Given the description of an element on the screen output the (x, y) to click on. 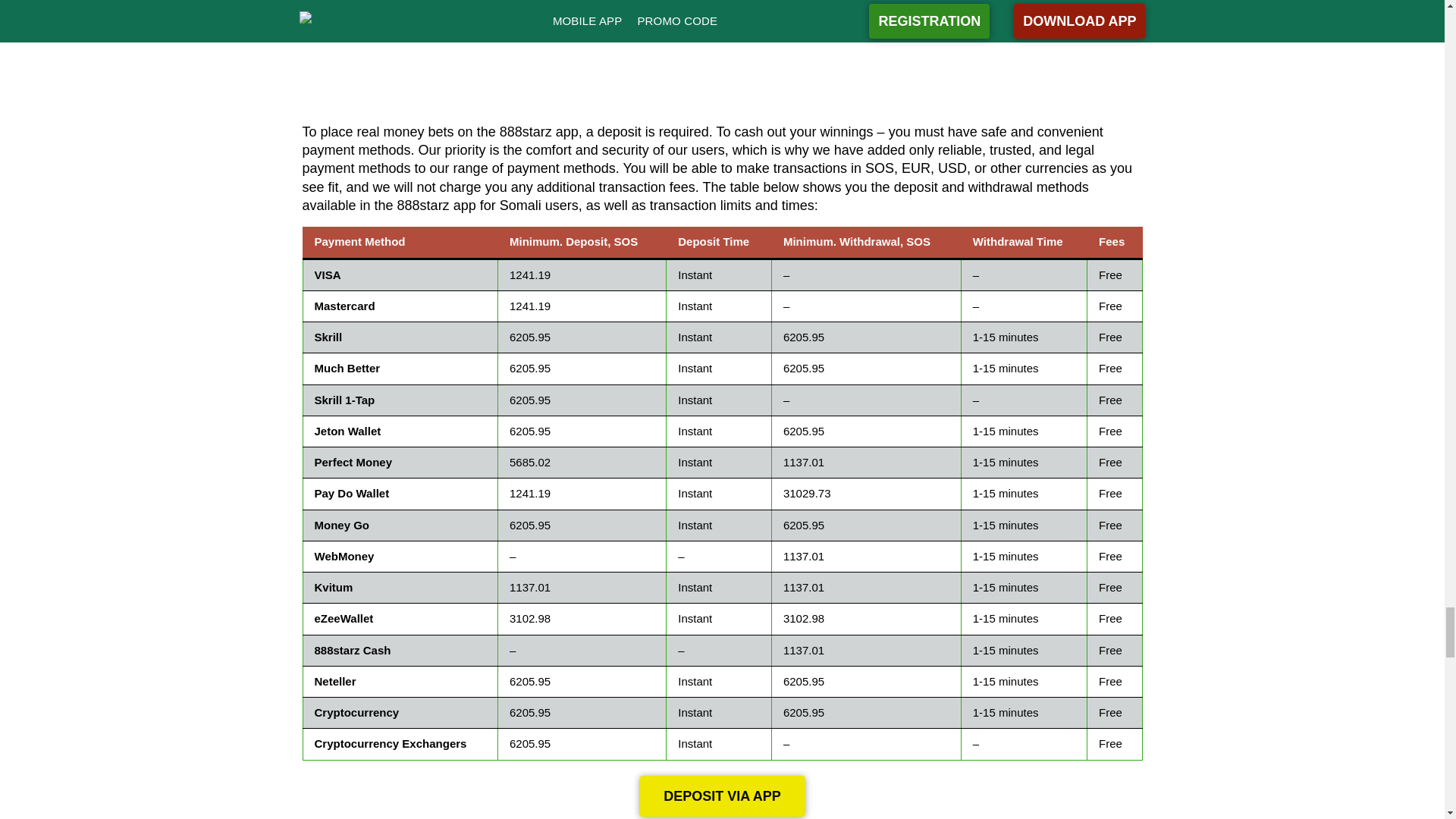
DEPOSIT VIA APP (722, 795)
